Given the description of an element on the screen output the (x, y) to click on. 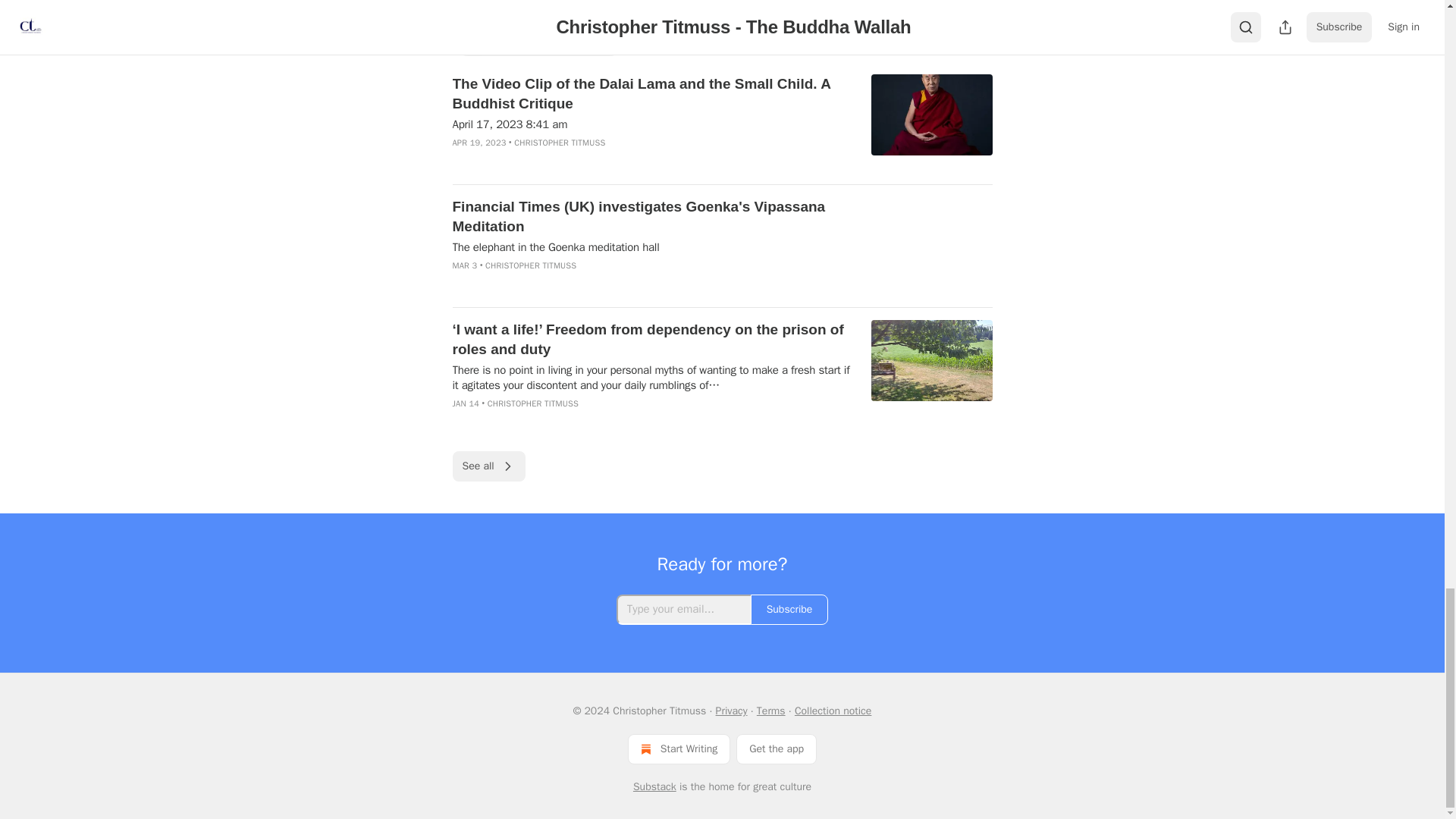
Latest (518, 40)
Discussions (585, 40)
Top (471, 40)
